Given the description of an element on the screen output the (x, y) to click on. 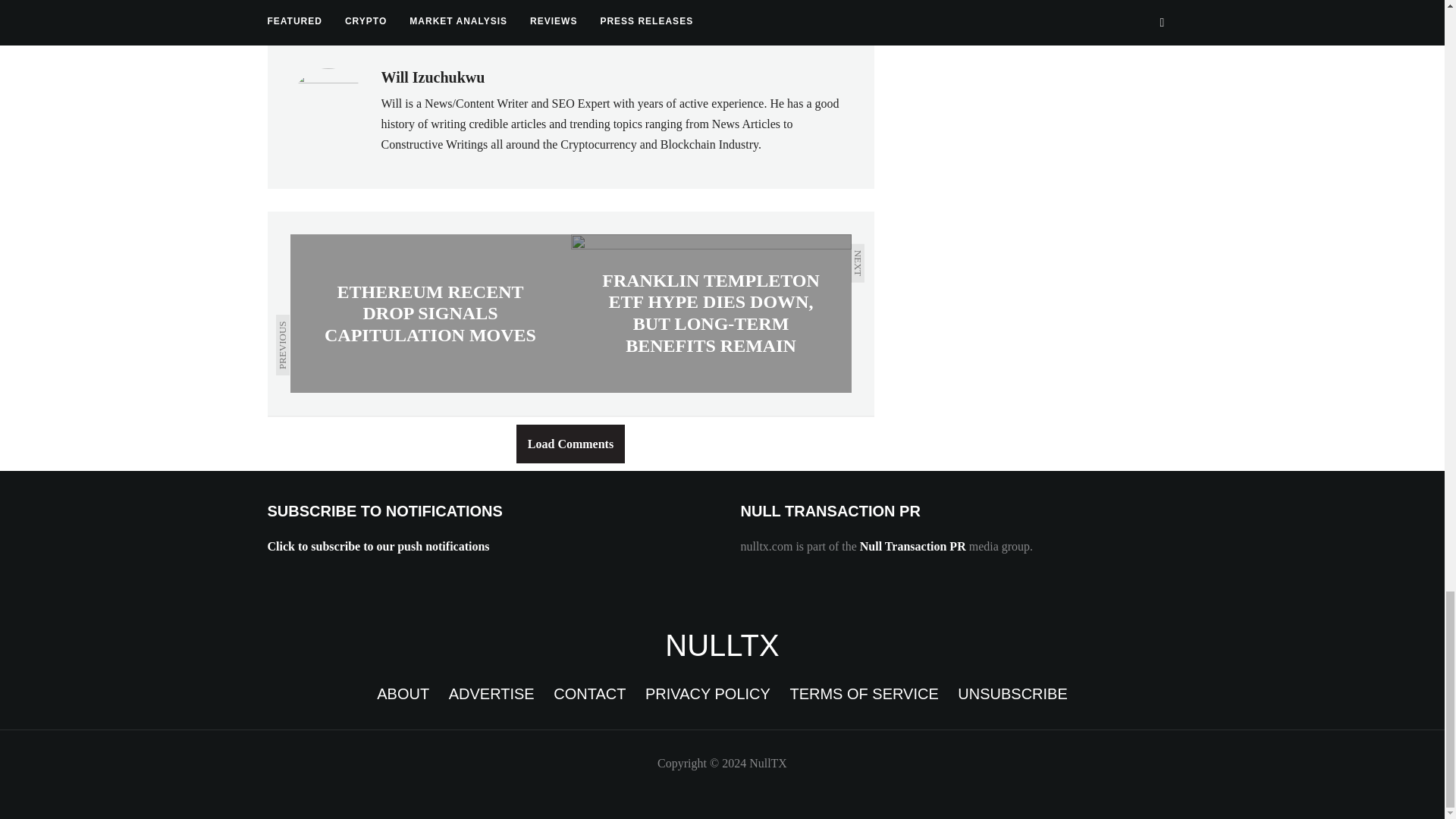
bitcoin (297, 9)
Cryptocurrency News (721, 644)
btc (458, 9)
Bitcoin Cash (382, 9)
Spot ETF (654, 9)
Posts by Will Izuchukwu (432, 76)
Will Izuchukwu (432, 76)
Ethereum Recent Drop Signals Capitulation Moves (429, 313)
ETFs (580, 9)
